Given the description of an element on the screen output the (x, y) to click on. 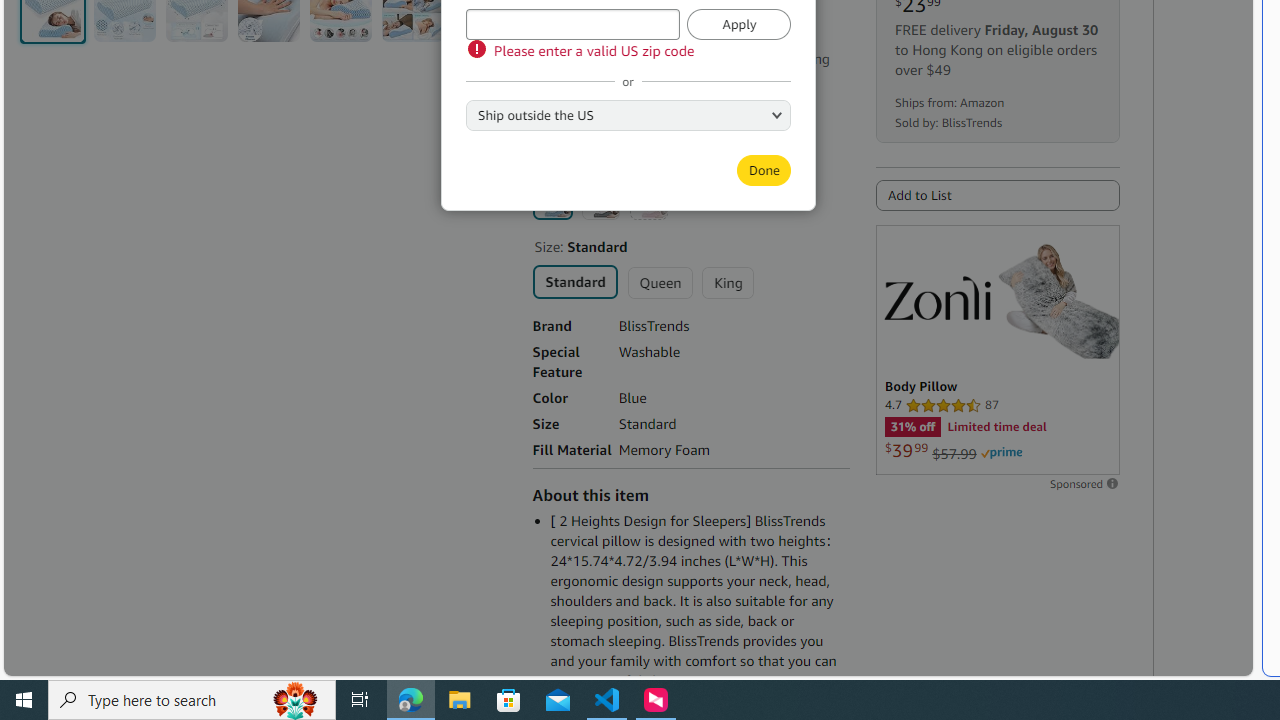
Terms (658, 125)
Details  (601, 79)
Logo (937, 297)
Apply 20% coupon Shop items | Terms (622, 100)
Sponsored ad (997, 349)
Blue (551, 199)
Learn more about Amazon pricing and savings (634, 32)
Done (763, 170)
Shop items (577, 125)
or enter a US zip code (572, 24)
Blue (551, 199)
Grey (600, 200)
Standard (574, 280)
Pink (647, 200)
